Given the description of an element on the screen output the (x, y) to click on. 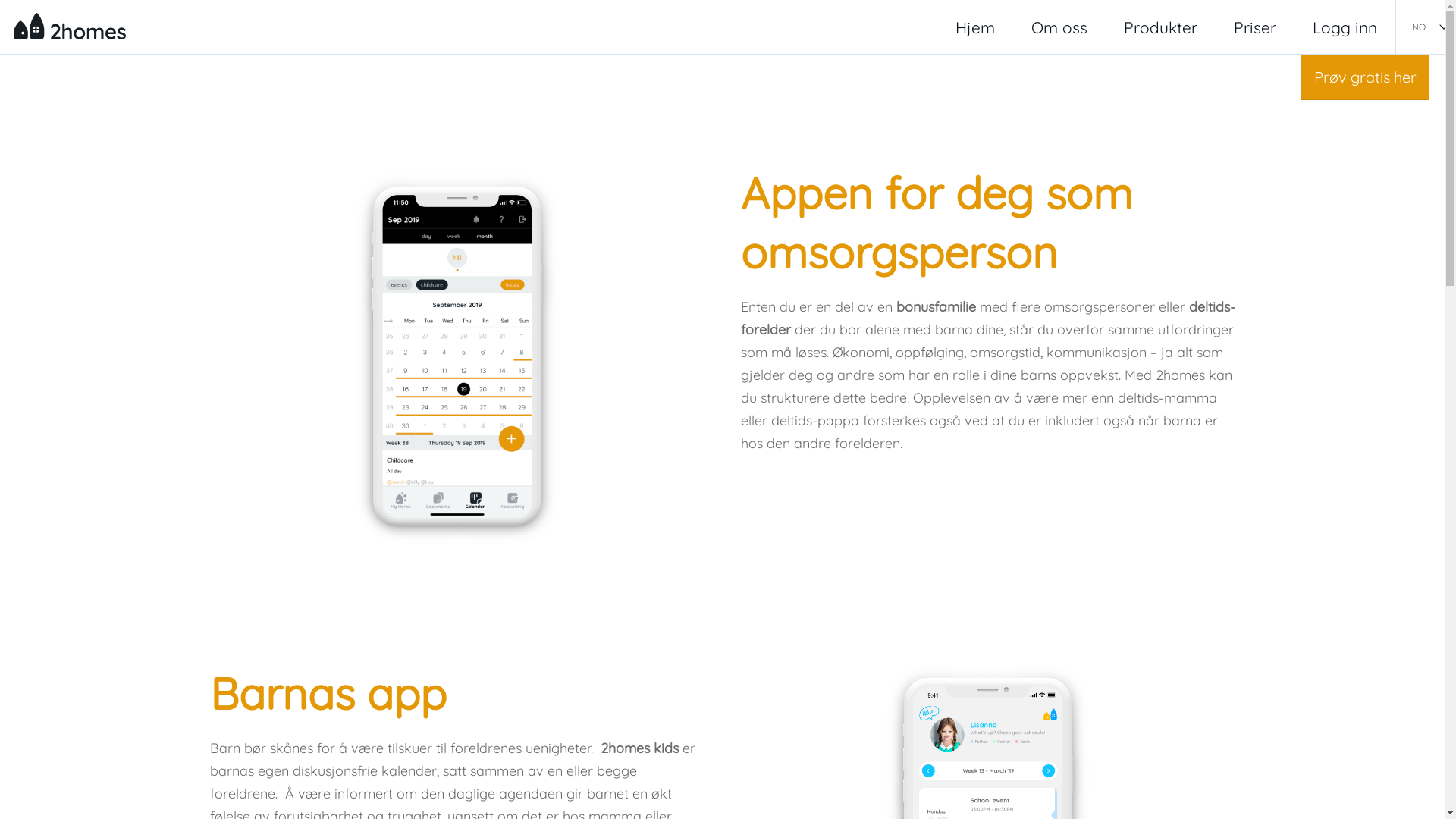
Priser Element type: text (1254, 26)
2homes-logo Element type: hover (69, 25)
Produkter Element type: text (1160, 26)
Logg inn Element type: text (1344, 26)
Hjem Element type: text (975, 26)
Om oss Element type: text (1059, 26)
